Given the description of an element on the screen output the (x, y) to click on. 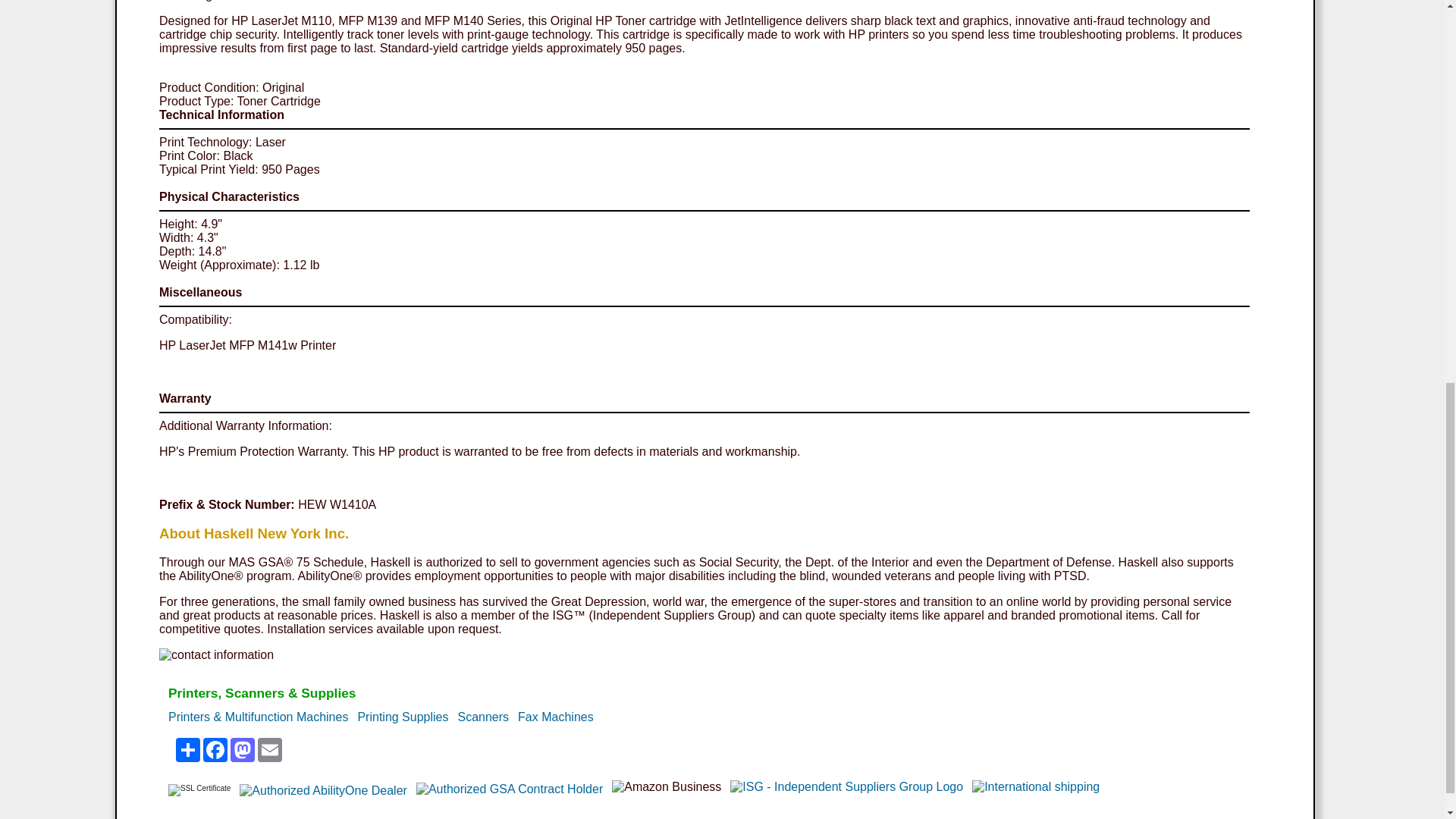
Mastodon (242, 749)
SSL Certificate (199, 789)
Facebook (215, 749)
Email (269, 749)
Fax Machines (556, 716)
Scanners (483, 716)
We ship internationally. (1035, 786)
Printing Supplies (402, 716)
